Given the description of an element on the screen output the (x, y) to click on. 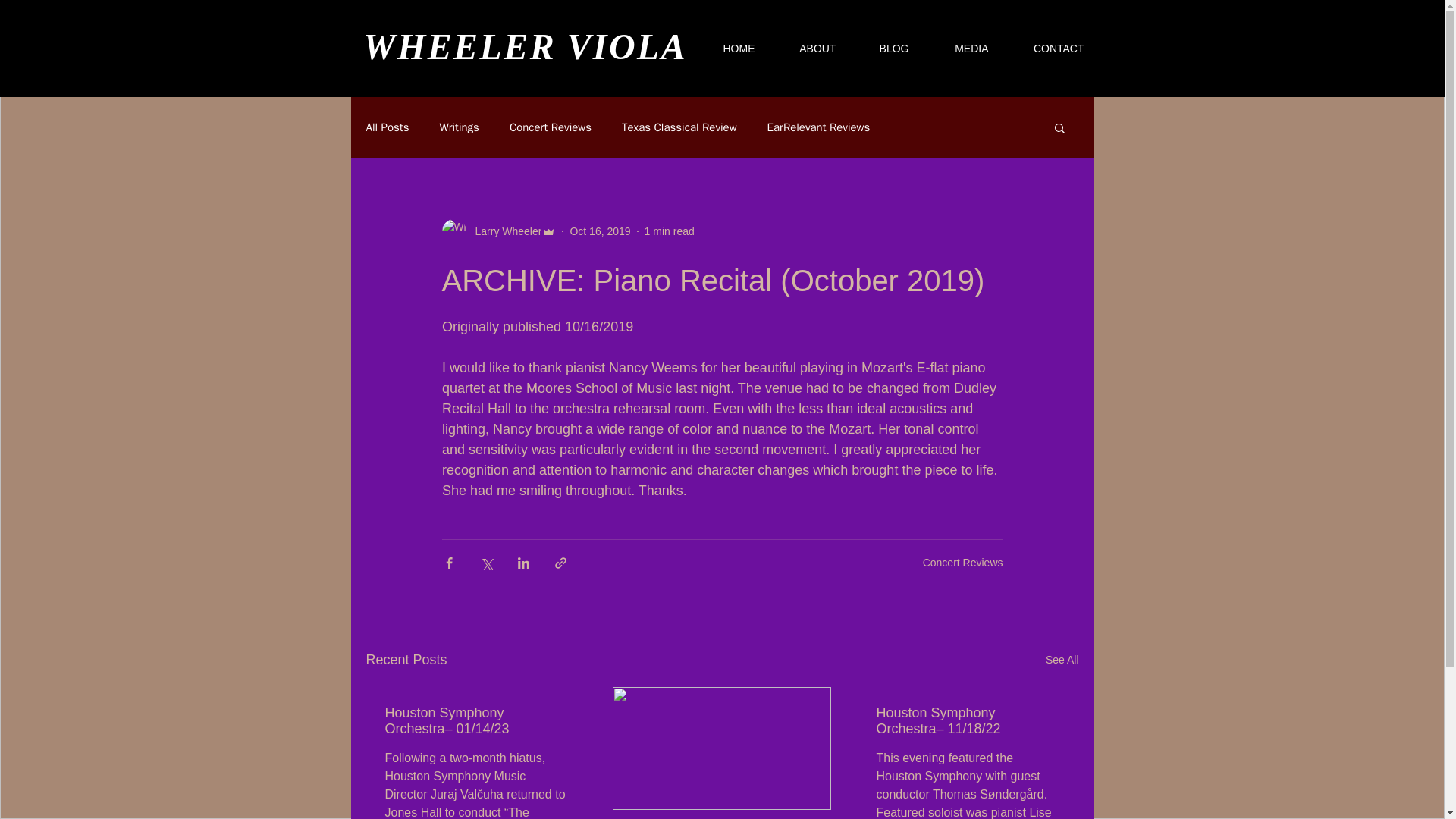
WHEELER VIOLA (524, 46)
EarRelevant Reviews (818, 126)
Concert Reviews (963, 562)
ABOUT (804, 47)
MEDIA (958, 47)
CONTACT (1045, 47)
Writings (459, 126)
See All (1061, 659)
HOME (724, 47)
Larry Wheeler (498, 231)
